Given the description of an element on the screen output the (x, y) to click on. 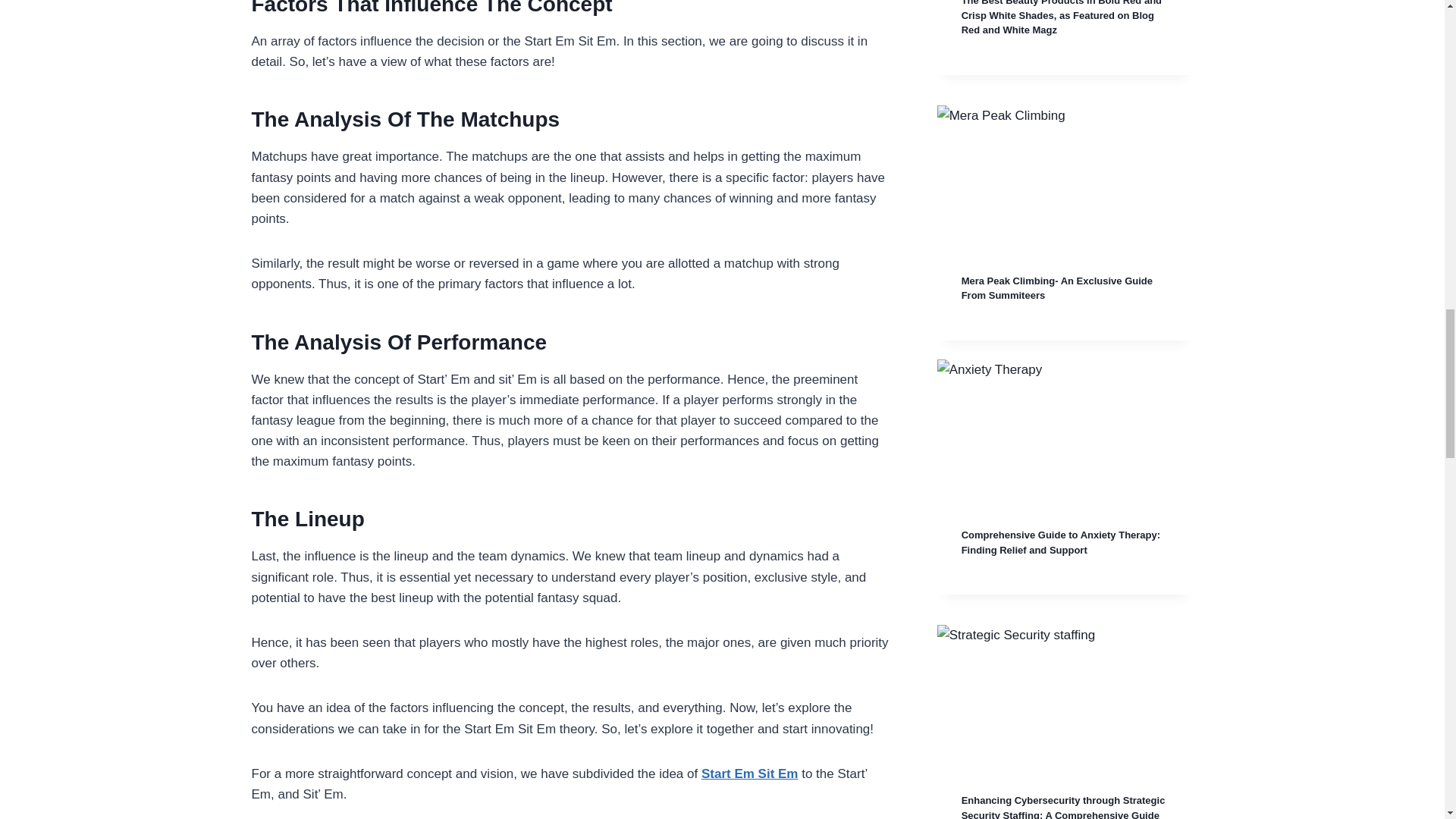
Mera Peak Climbing- An Exclusive Guide From Summiteers (1056, 288)
Start Em Sit Em (749, 773)
